Given the description of an element on the screen output the (x, y) to click on. 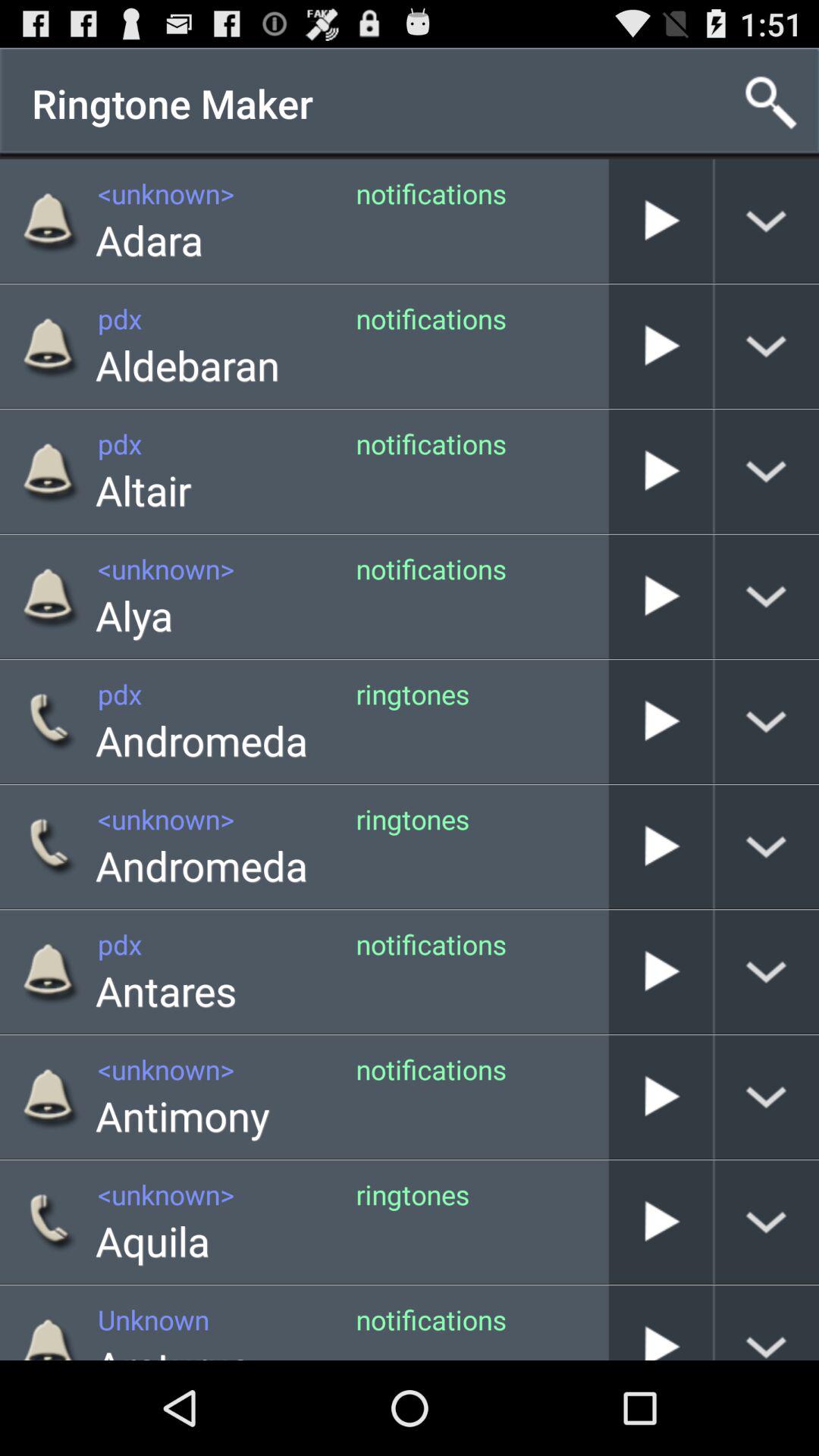
play (660, 971)
